Given the description of an element on the screen output the (x, y) to click on. 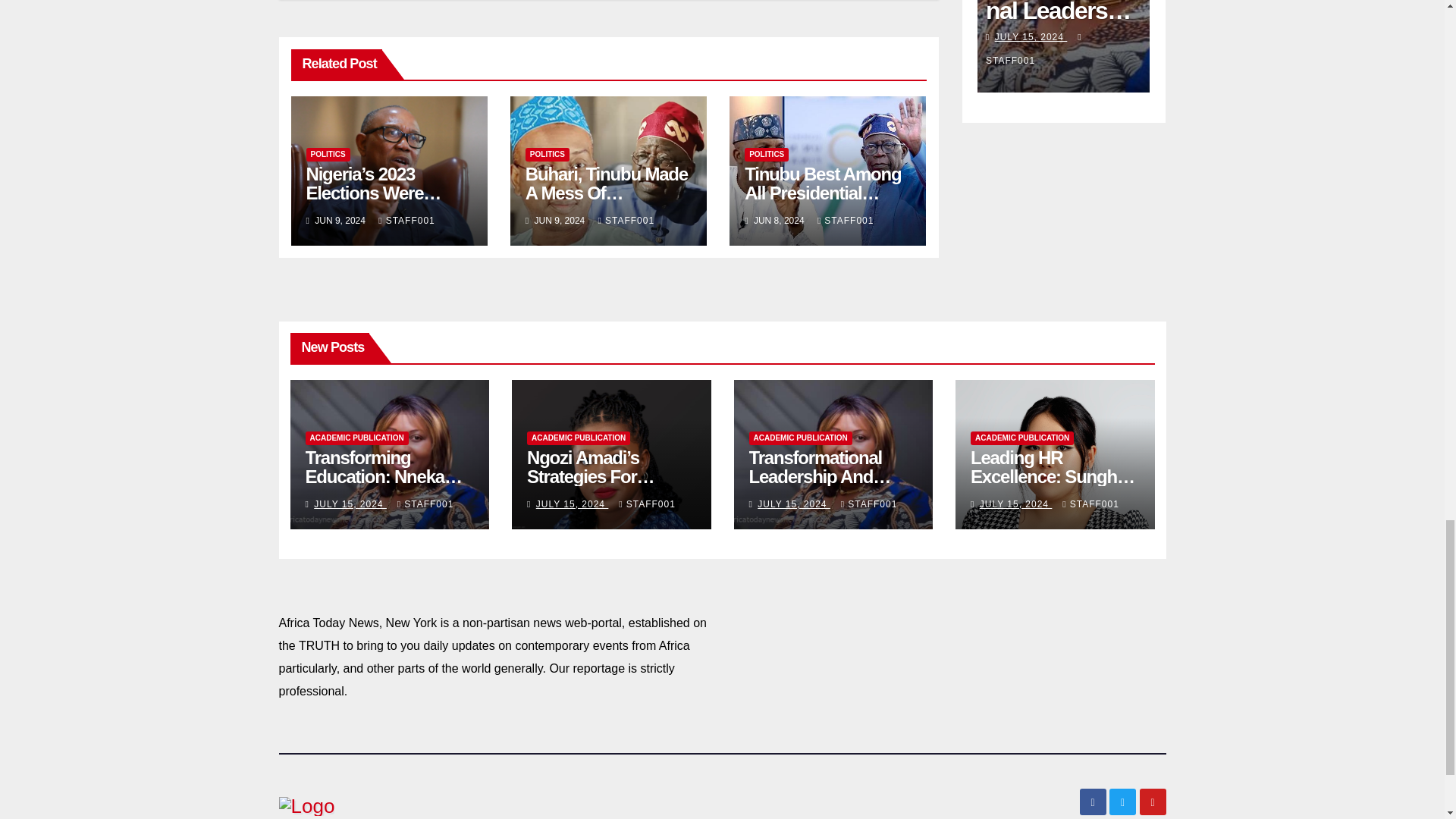
POLITICS (327, 154)
POLITICS (547, 154)
STAFF001 (406, 220)
